Given the description of an element on the screen output the (x, y) to click on. 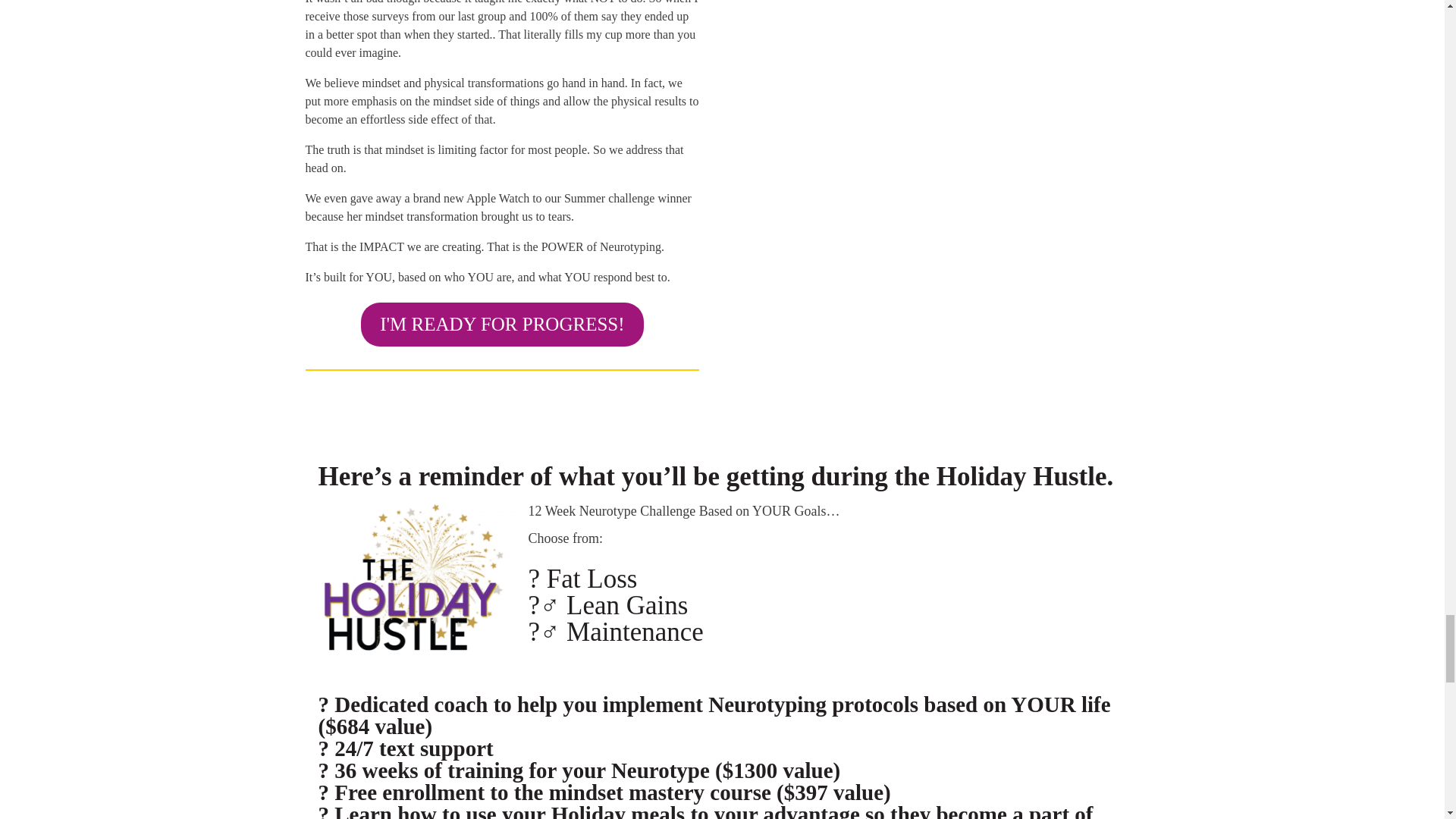
I'M READY FOR PROGRESS! (502, 324)
